Given the description of an element on the screen output the (x, y) to click on. 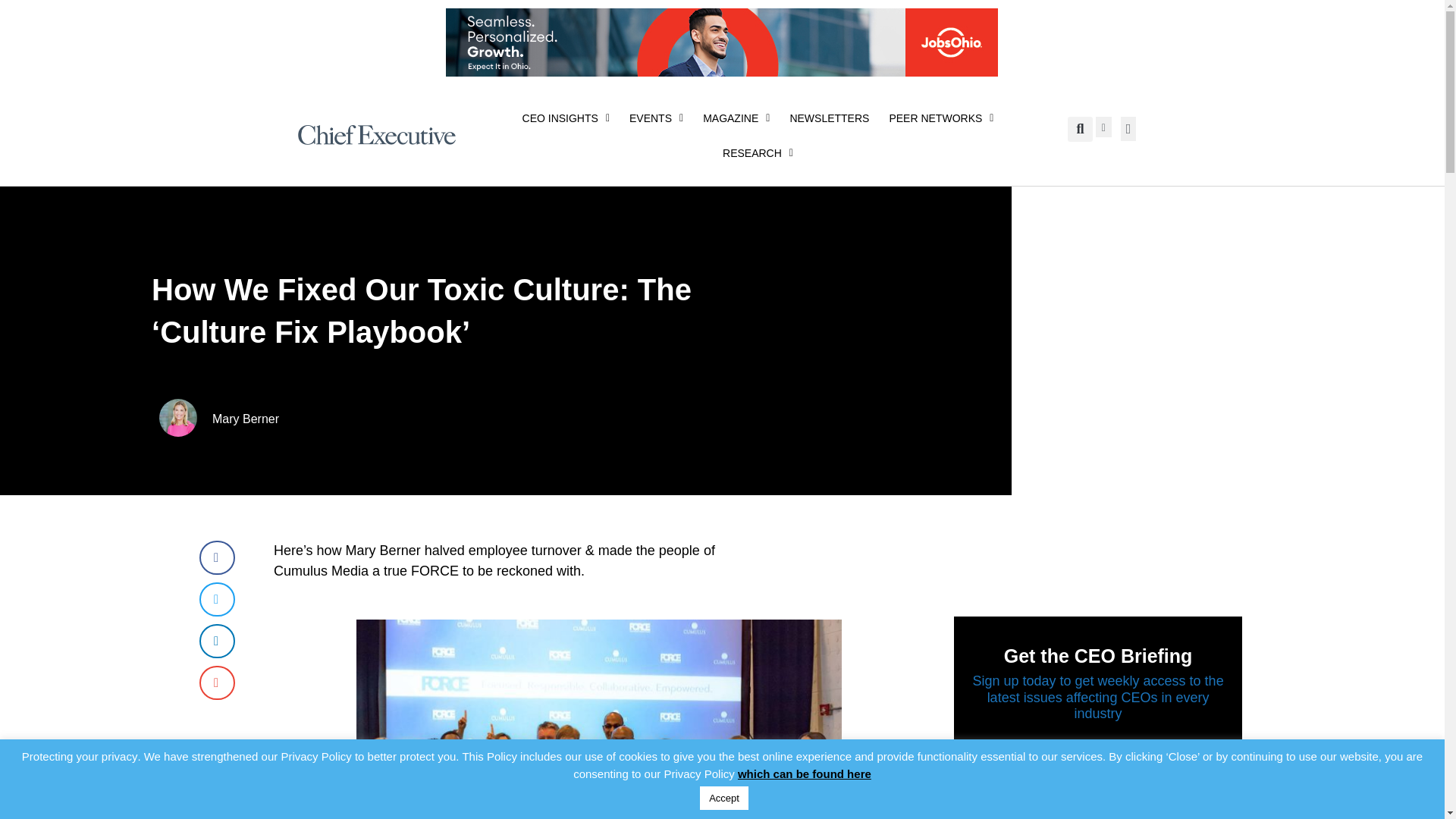
CEO INSIGHTS (566, 117)
MAGAZINE (735, 117)
NEWSLETTERS (828, 117)
PEER NETWORKS (941, 117)
RESEARCH (758, 152)
EVENTS (656, 117)
